Given the description of an element on the screen output the (x, y) to click on. 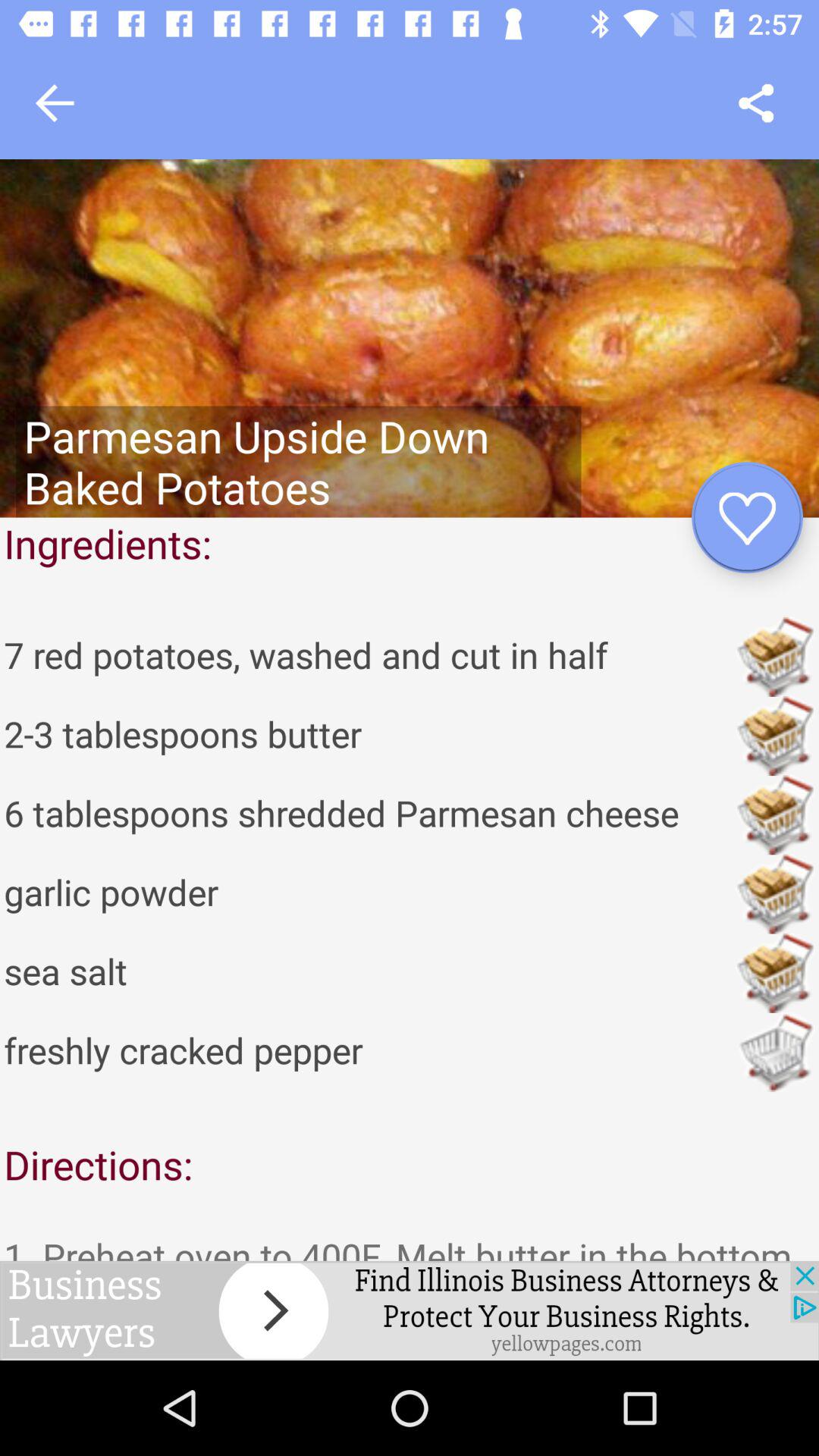
previous page (54, 103)
